Given the description of an element on the screen output the (x, y) to click on. 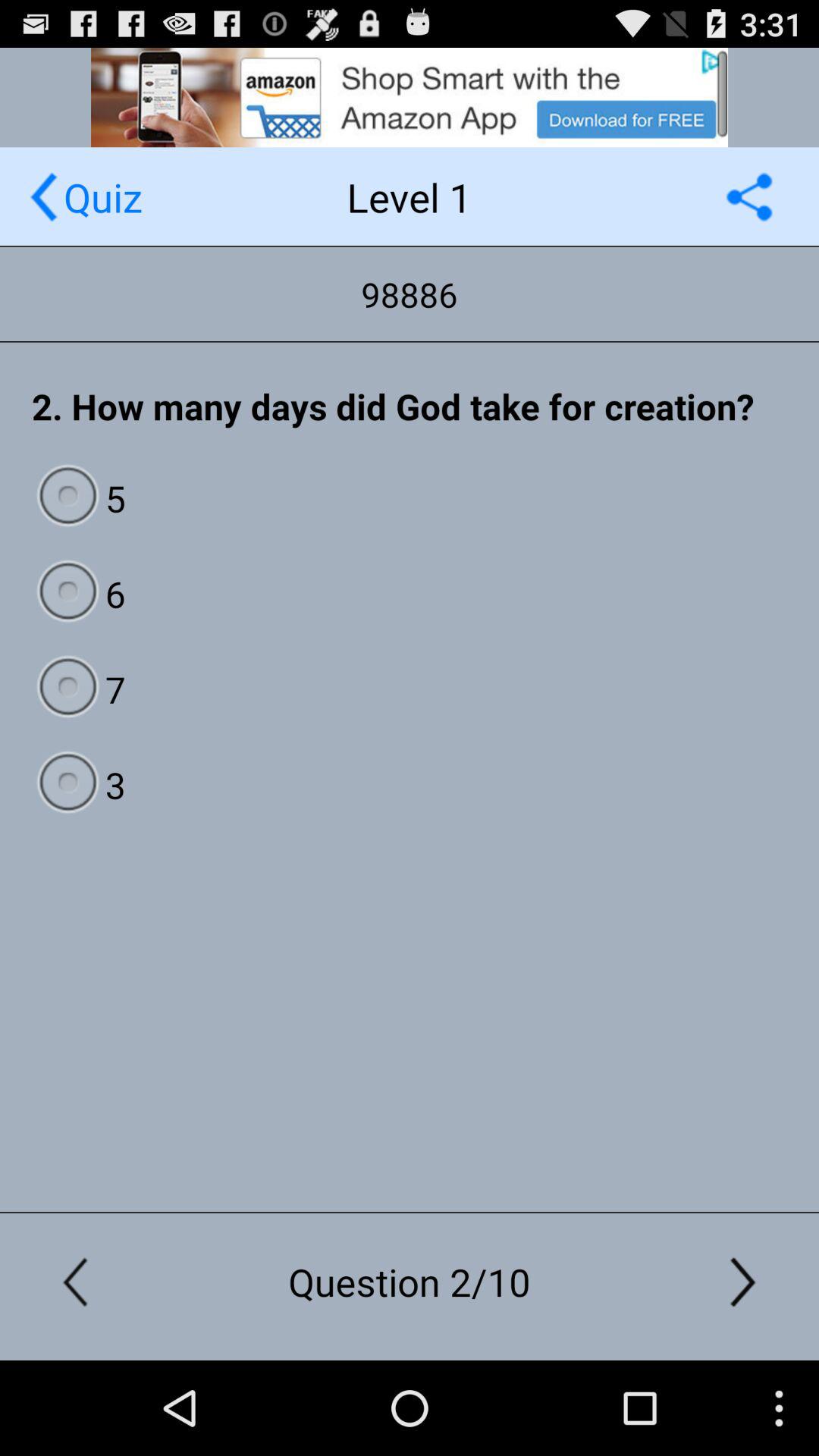
share quiz (749, 196)
